Given the description of an element on the screen output the (x, y) to click on. 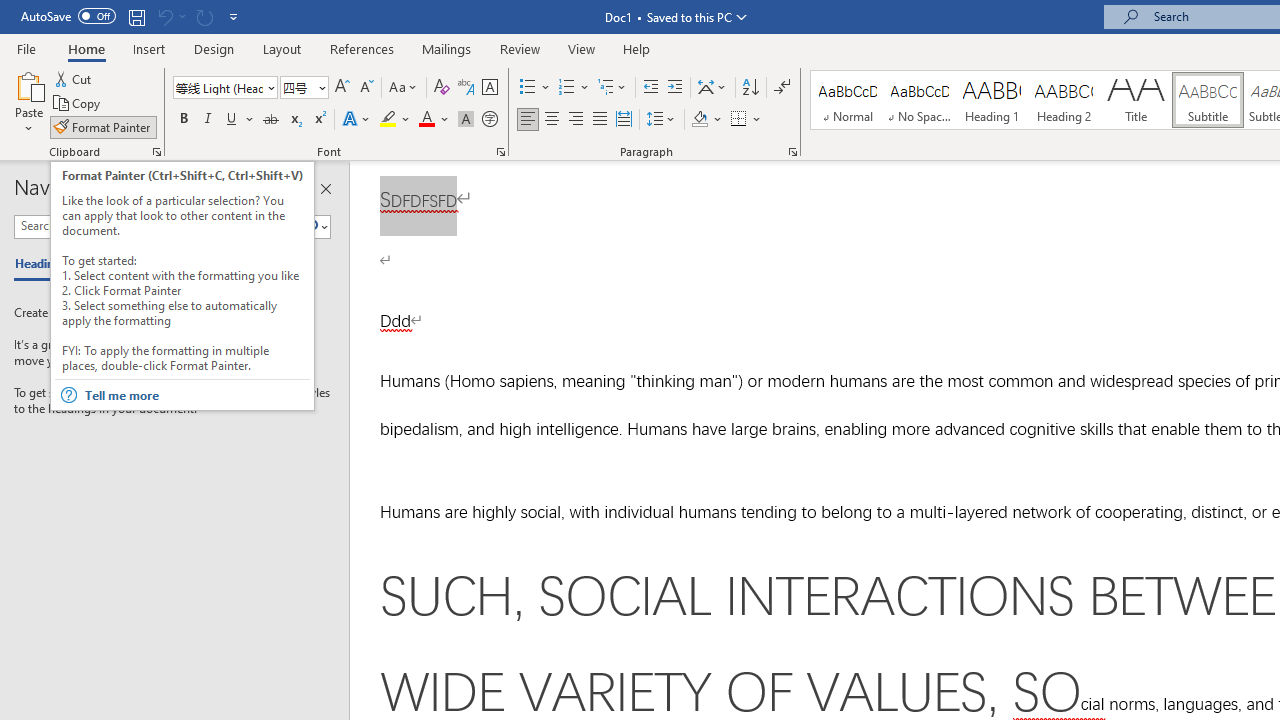
Design (214, 48)
